Given the description of an element on the screen output the (x, y) to click on. 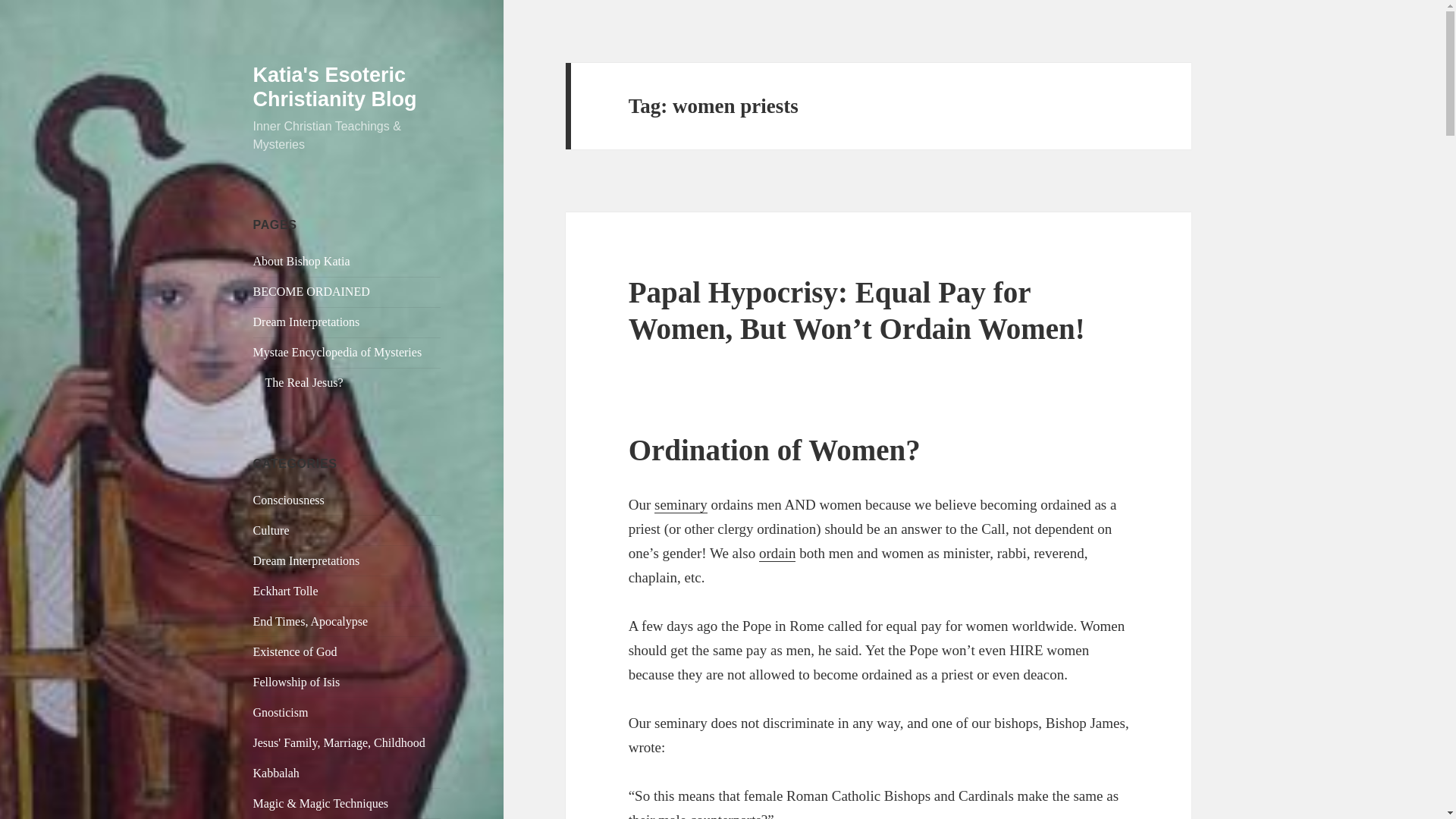
Dream Interpretations (306, 560)
Jesus' Family, Marriage, Childhood (339, 742)
BECOME ORDAINED (311, 291)
Dream Interpretations (306, 321)
Gnosticism (280, 712)
End Times, Apocalypse (310, 621)
Kabbalah (276, 772)
Culture (271, 530)
Mystae Encyclopedia of Mysteries (337, 351)
The Real Jesus? (303, 382)
Existence of God (295, 651)
Fellowship of Isis (296, 681)
Consciousness (288, 499)
Eckhart Tolle (285, 590)
Katia's Esoteric Christianity Blog (334, 86)
